Given the description of an element on the screen output the (x, y) to click on. 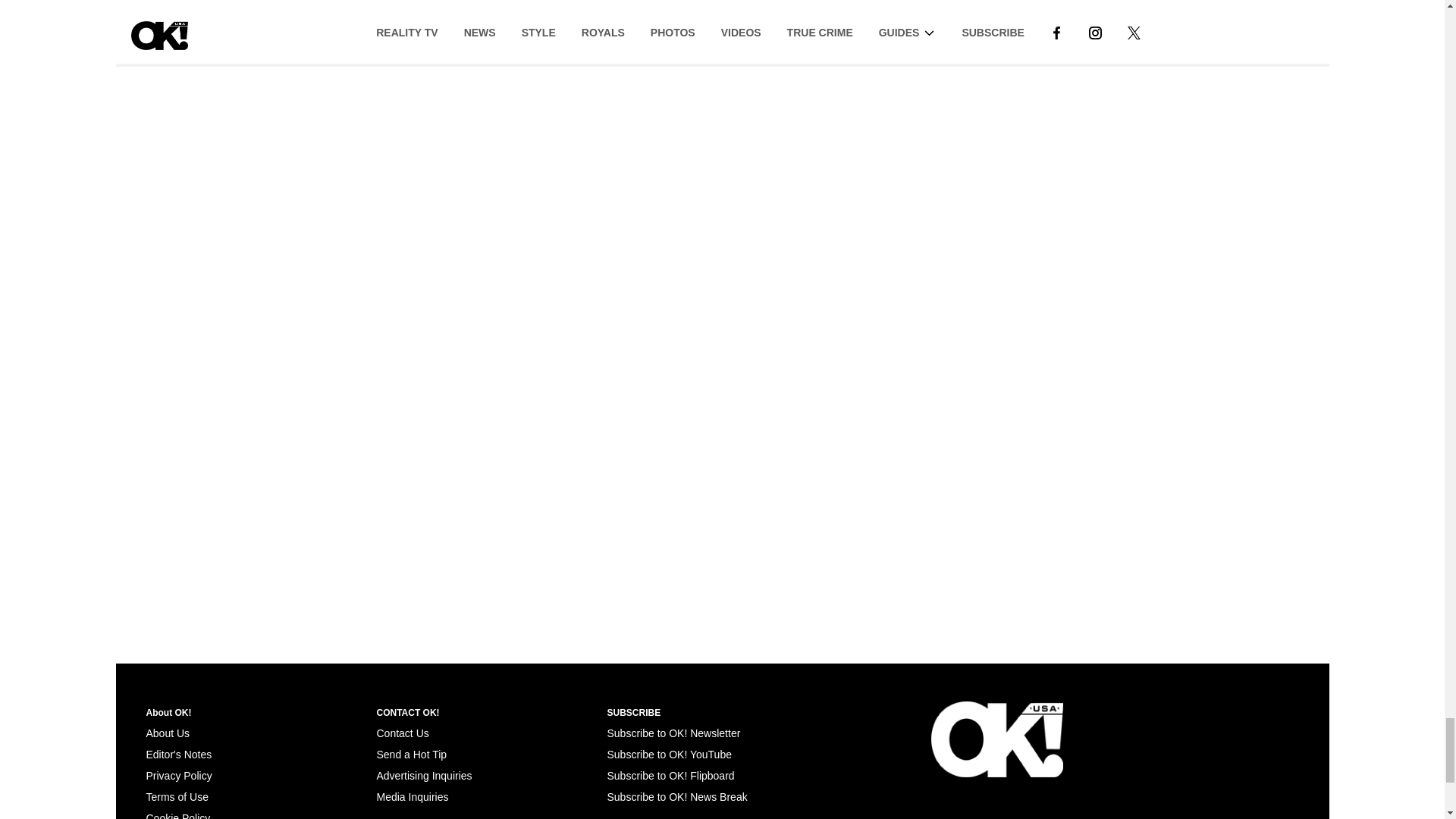
Cookie Policy (177, 815)
Contact Us (401, 733)
Editor's Notes (178, 754)
Send a Hot Tip (410, 754)
About Us (167, 733)
Privacy Policy (178, 775)
Terms of Use (176, 797)
